Given the description of an element on the screen output the (x, y) to click on. 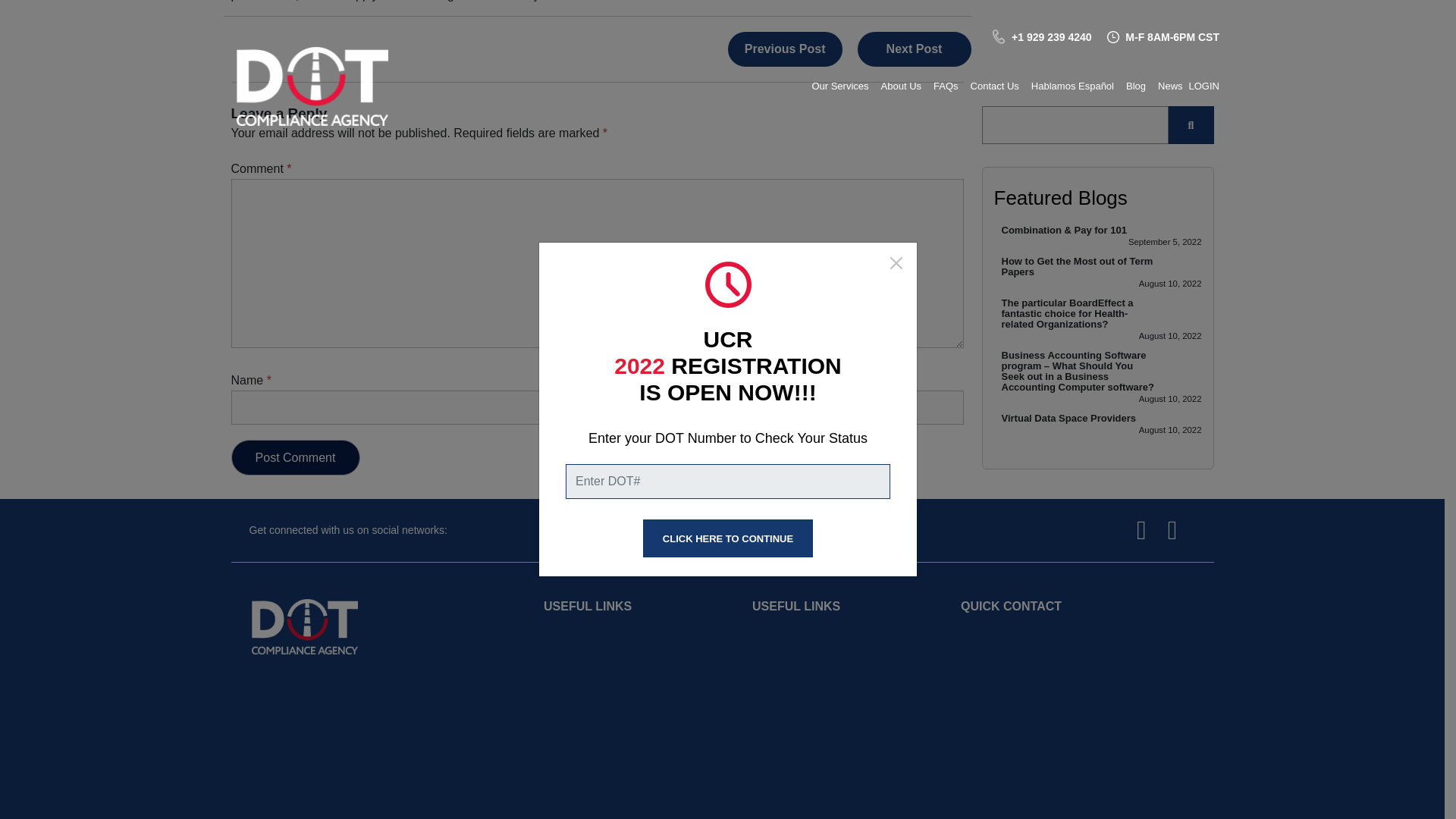
Previous Post (785, 48)
Post Comment (294, 457)
Next Post (914, 48)
